Given the description of an element on the screen output the (x, y) to click on. 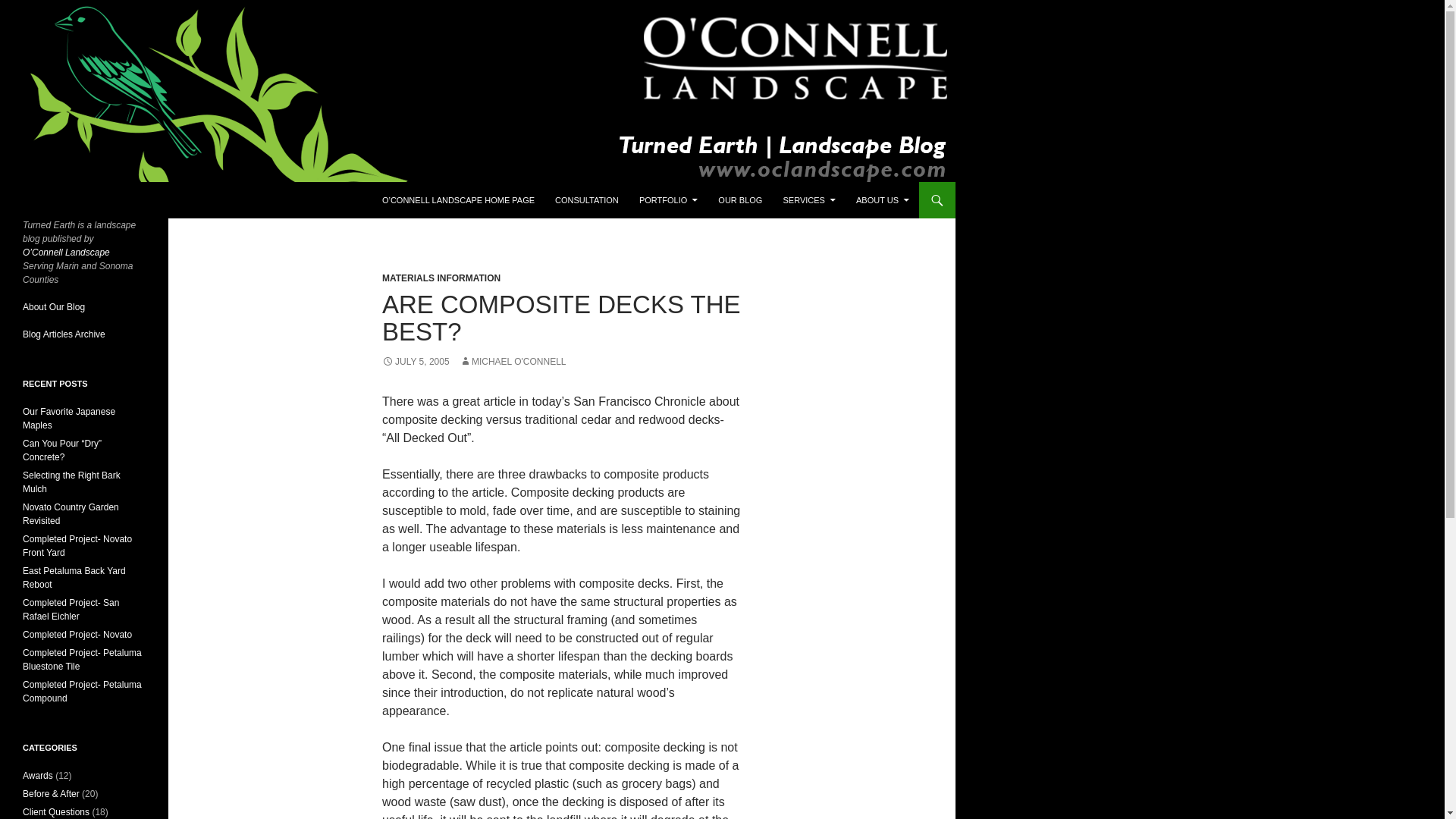
JULY 5, 2005 (415, 361)
PORTFOLIO (668, 199)
Selecting the Right Bark Mulch (71, 482)
Novato Country Garden Revisited (71, 514)
About Our Blog (53, 307)
SERVICES (808, 199)
CONSULTATION (586, 199)
Our Favorite Japanese Maples (69, 418)
MICHAEL O'CONNELL (513, 361)
